Given the description of an element on the screen output the (x, y) to click on. 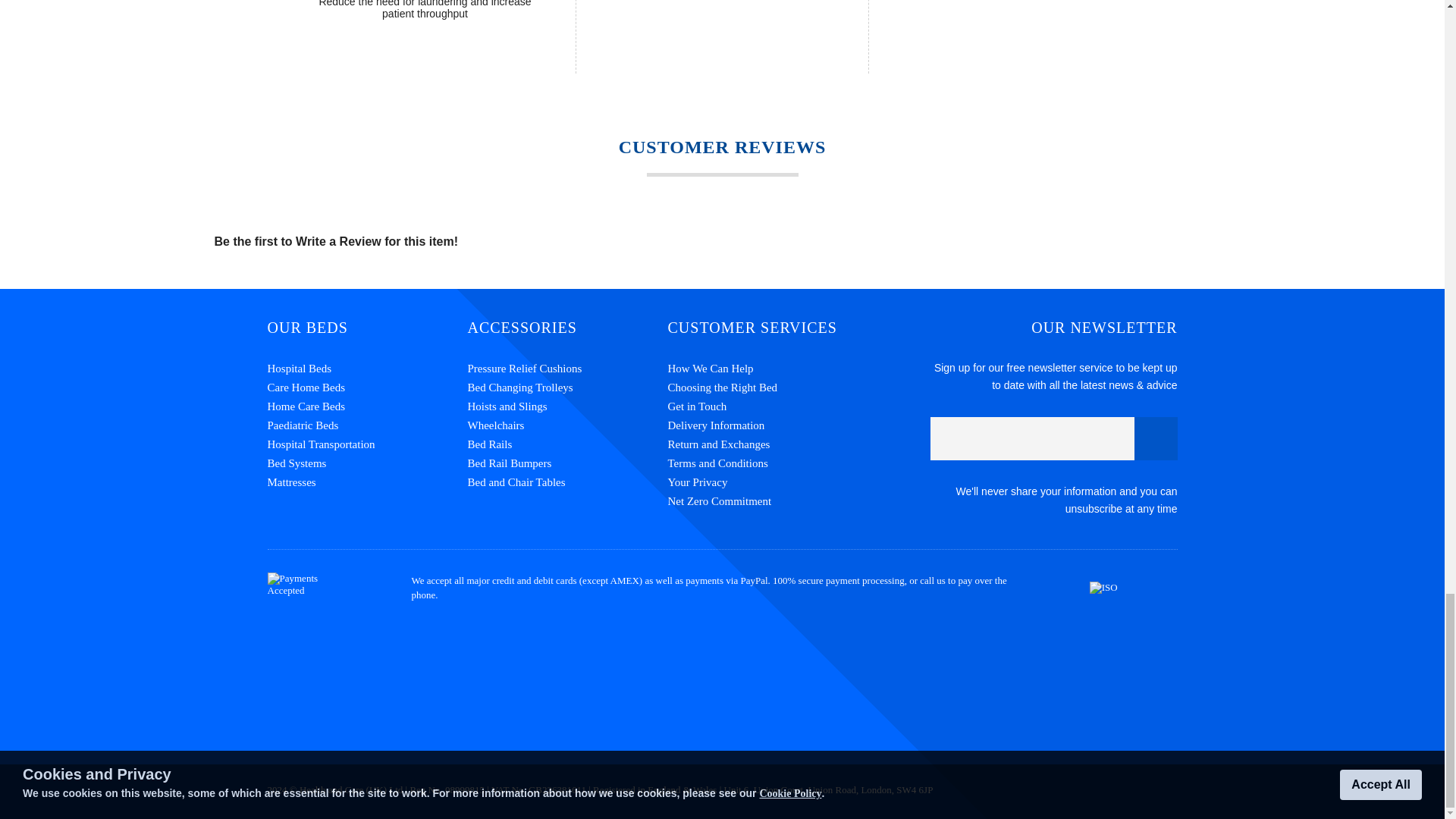
Home Care Beds (366, 406)
Hospital Transportation (366, 444)
Customer reviews powered by Trustpilot (721, 694)
Care Home Beds (366, 387)
Mattresses (366, 482)
Bed Systems (366, 463)
Write a Review (338, 241)
Pressure Relief Cushions (566, 368)
Hospital Beds (366, 368)
Paediatric Beds (366, 425)
